Given the description of an element on the screen output the (x, y) to click on. 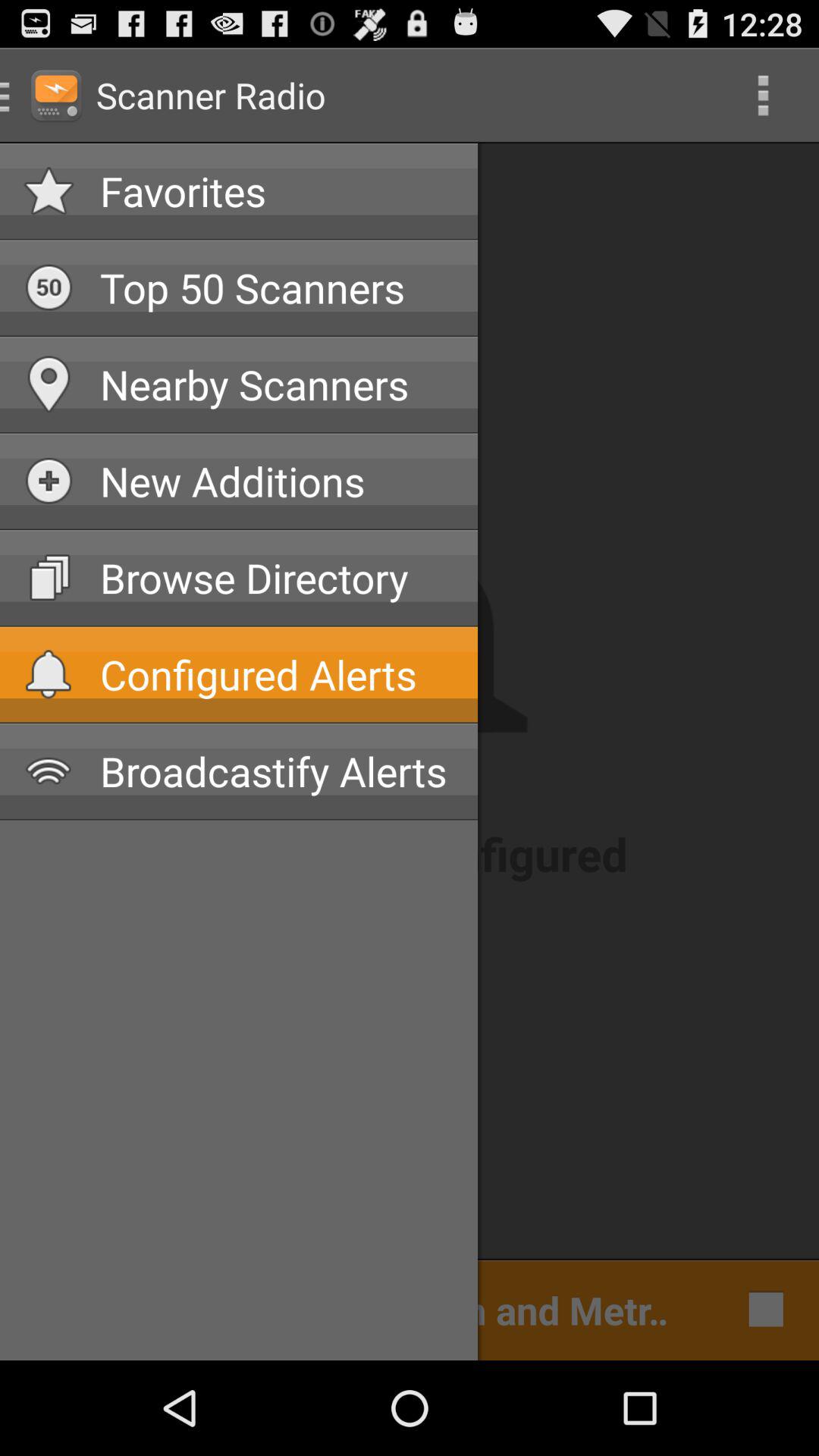
choose button to the right of cleveland police dispatch icon (762, 1309)
